Given the description of an element on the screen output the (x, y) to click on. 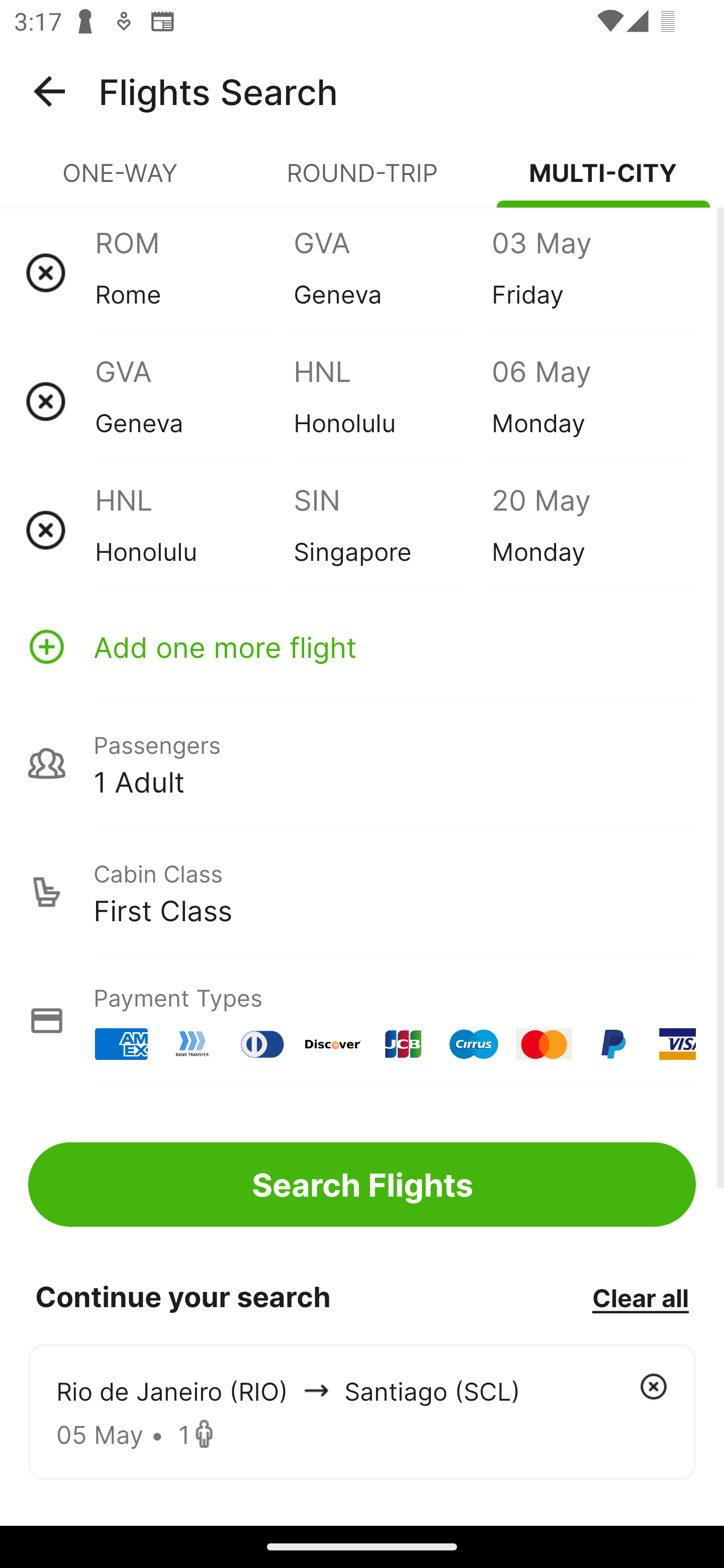
ONE-WAY (120, 180)
ROUND-TRIP (361, 180)
MULTI-CITY (603, 180)
ROM Rome (193, 272)
GVA Geneva (392, 272)
03 May Friday (590, 272)
GVA Geneva (193, 401)
HNL Honolulu (392, 401)
06 May Monday (590, 401)
HNL Honolulu (193, 529)
SIN Singapore (392, 529)
20 May Monday (590, 529)
Add one more flight (362, 646)
Passengers 1 Adult (362, 762)
Cabin Class First Class (362, 891)
Payment Types (362, 1020)
Search Flights (361, 1184)
Clear all (640, 1297)
